Given the description of an element on the screen output the (x, y) to click on. 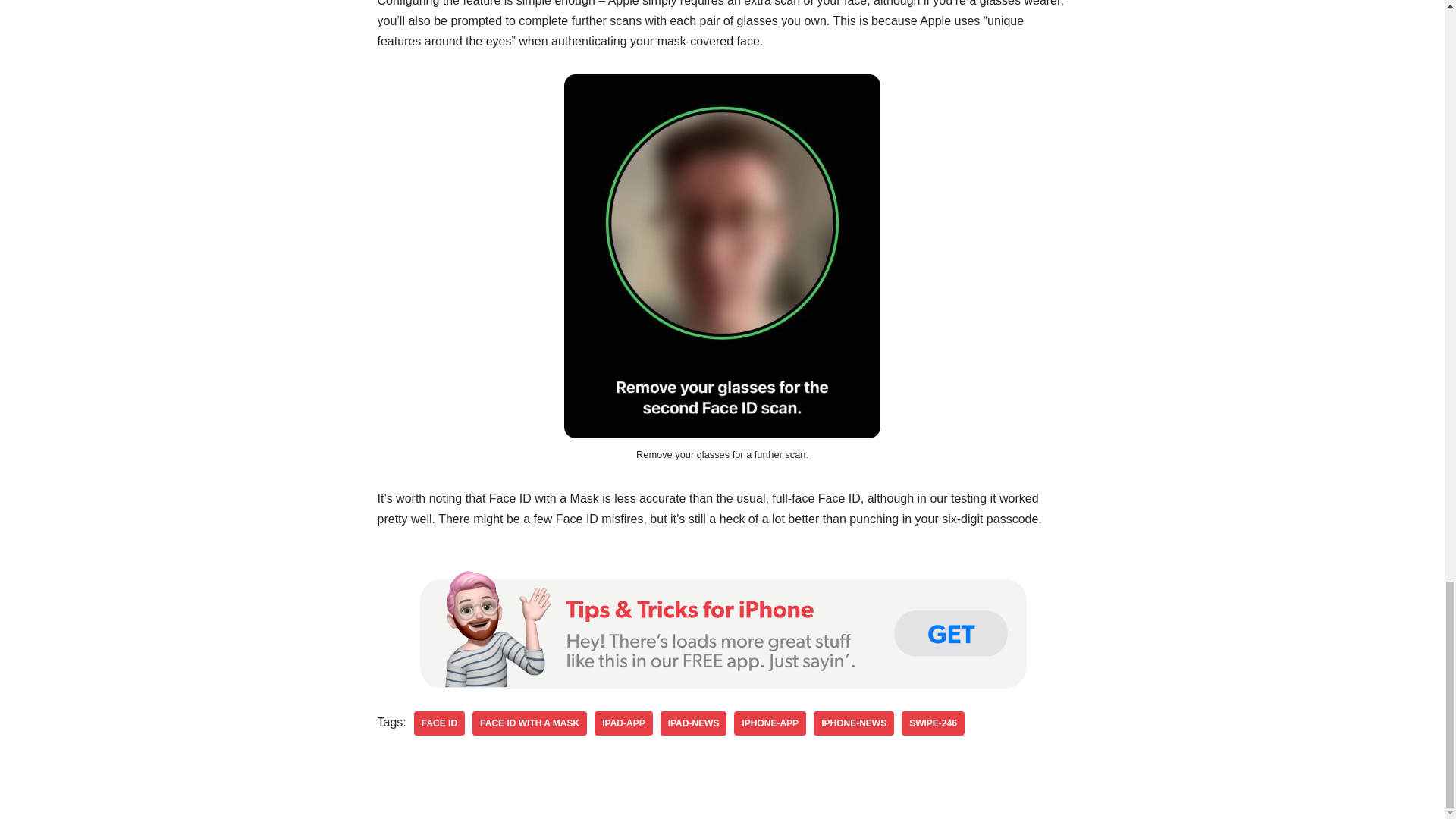
IPAD-NEWS (693, 723)
iphone-app (769, 723)
SWIPE-246 (932, 723)
swipe-246 (932, 723)
FACE ID WITH A MASK (528, 723)
ipad-app (623, 723)
iphone-news (853, 723)
IPHONE-APP (769, 723)
Face ID (438, 723)
IPAD-APP (623, 723)
